Given the description of an element on the screen output the (x, y) to click on. 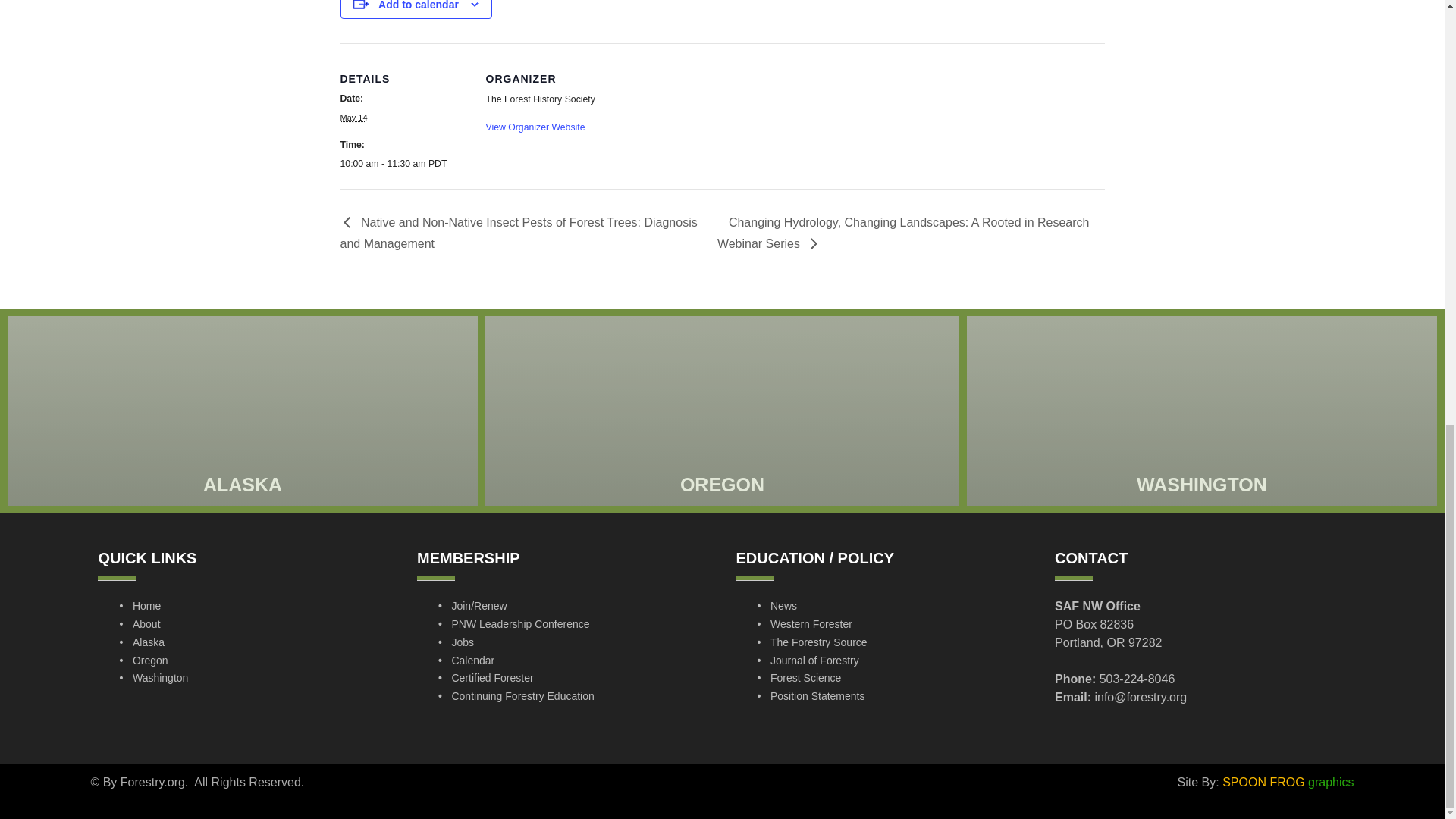
2024-05-14 (352, 117)
Affordable Website Design - SPOON FROG graphics (1288, 781)
2024-05-14 (403, 163)
